Given the description of an element on the screen output the (x, y) to click on. 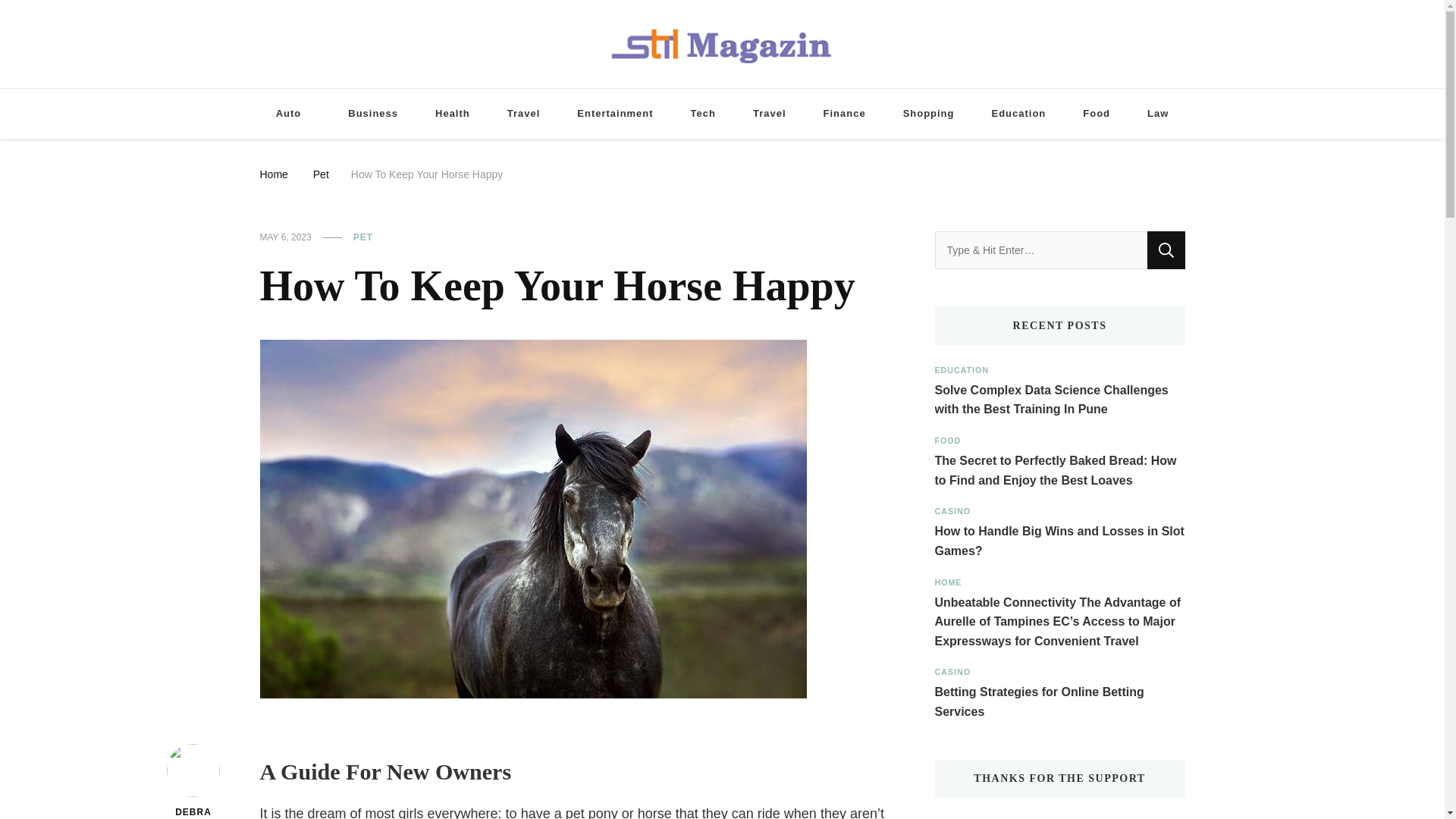
Food (1095, 113)
Education (1018, 113)
Search (1166, 249)
Health (452, 113)
Entertainment (614, 113)
Shopping (928, 113)
Search (1166, 249)
Stil Magazin (783, 91)
Law (1158, 113)
Business (372, 113)
